Given the description of an element on the screen output the (x, y) to click on. 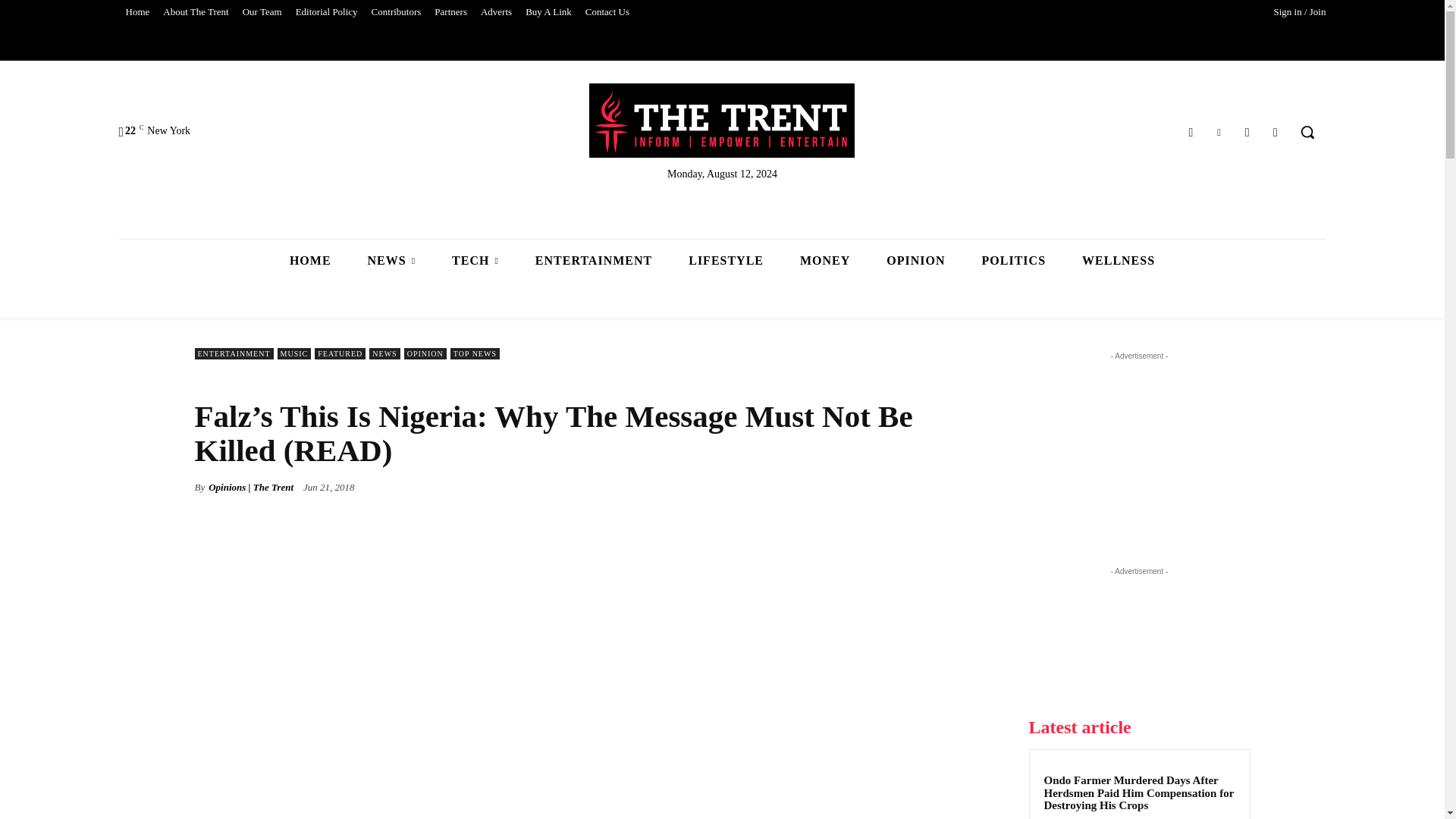
Rss (1275, 132)
Instagram (1246, 132)
Facebook (1190, 132)
Twitter (1218, 132)
